Given the description of an element on the screen output the (x, y) to click on. 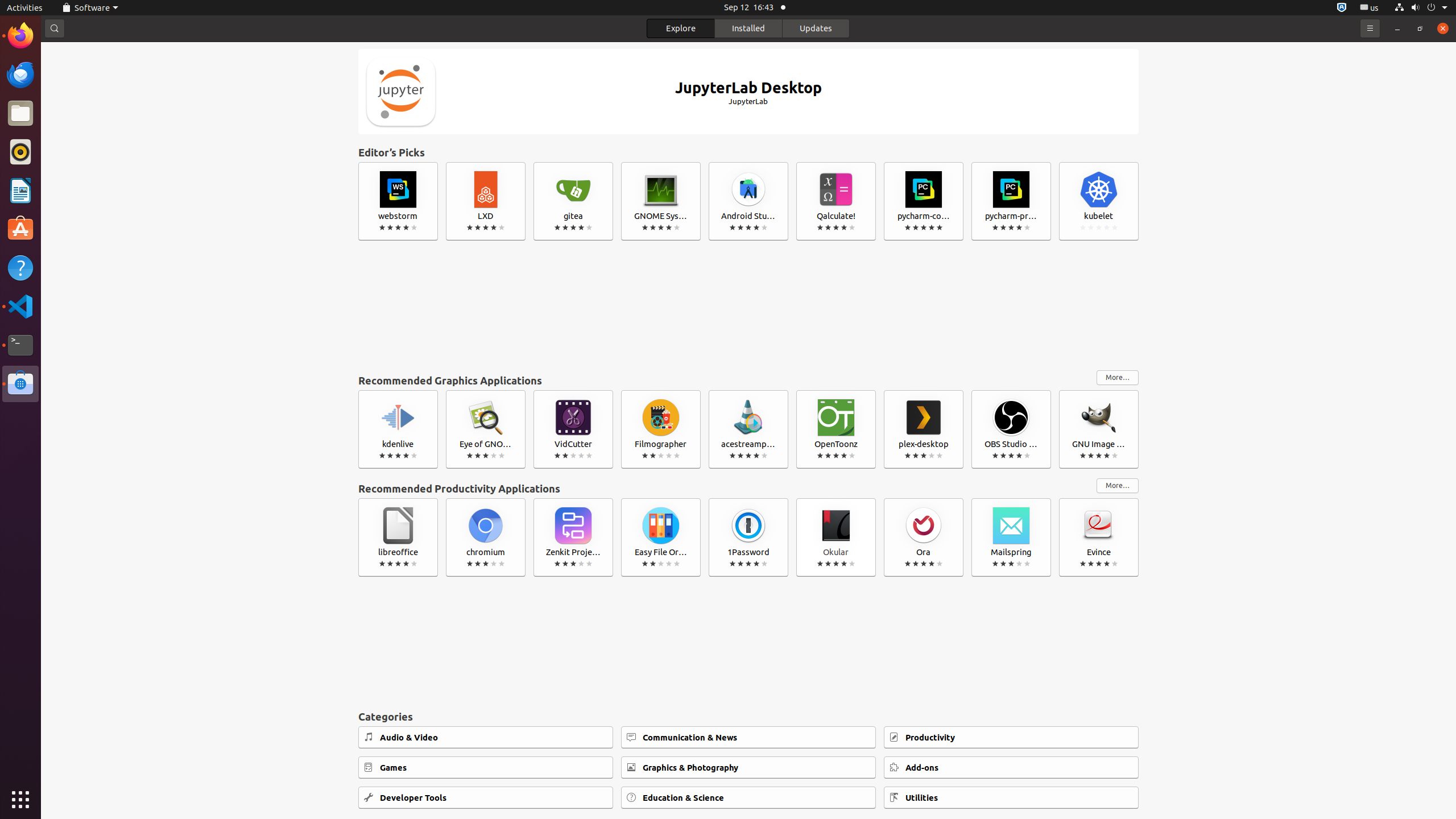
Games Element type: push-button (485, 767)
Utilities Element type: push-button (1010, 797)
Graphics & Photography Element type: push-button (748, 767)
Education & Science Element type: push-button (748, 797)
